Given the description of an element on the screen output the (x, y) to click on. 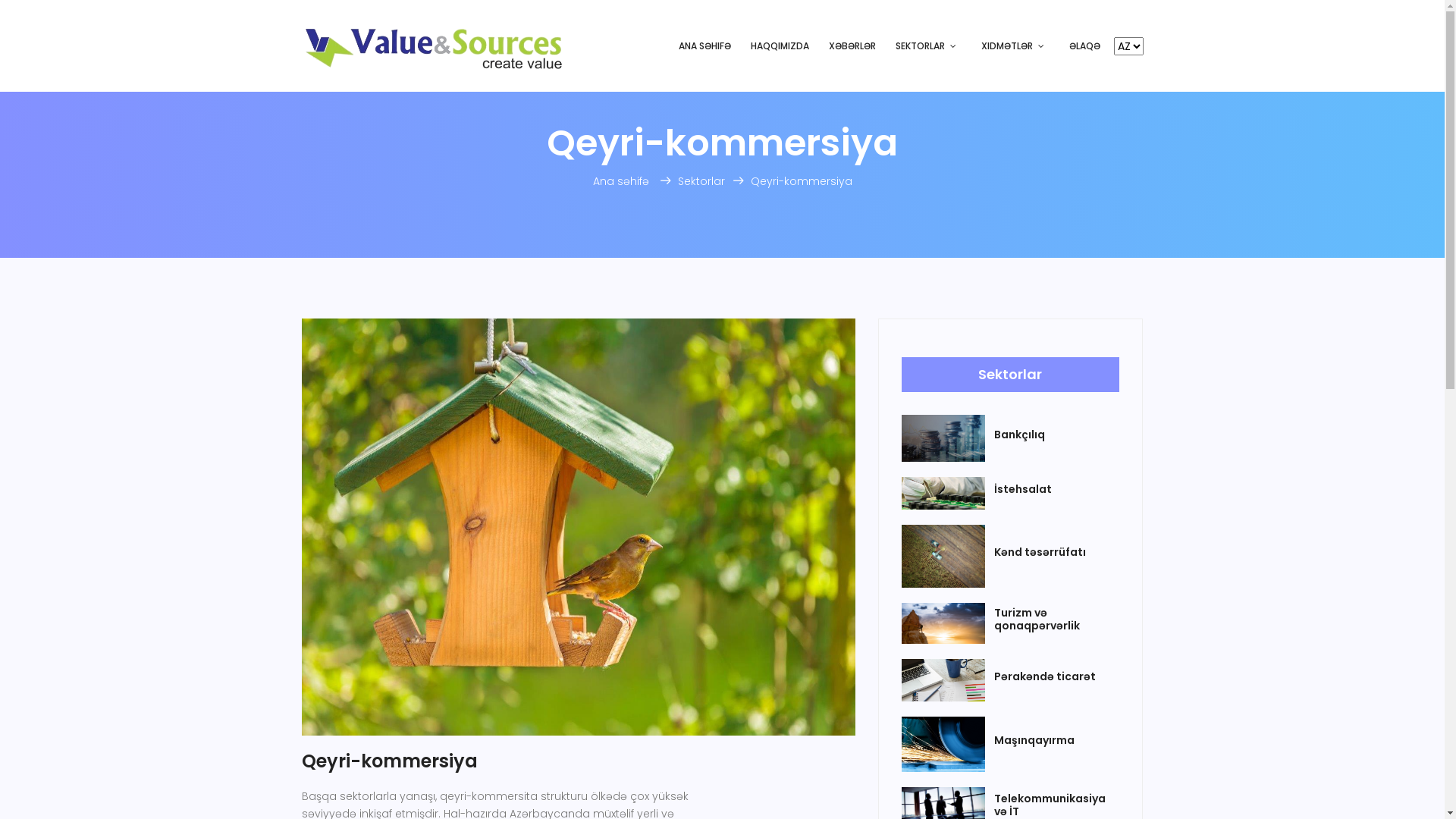
SEKTORLAR Element type: text (927, 46)
HAQQIMIZDA Element type: text (779, 46)
